Given the description of an element on the screen output the (x, y) to click on. 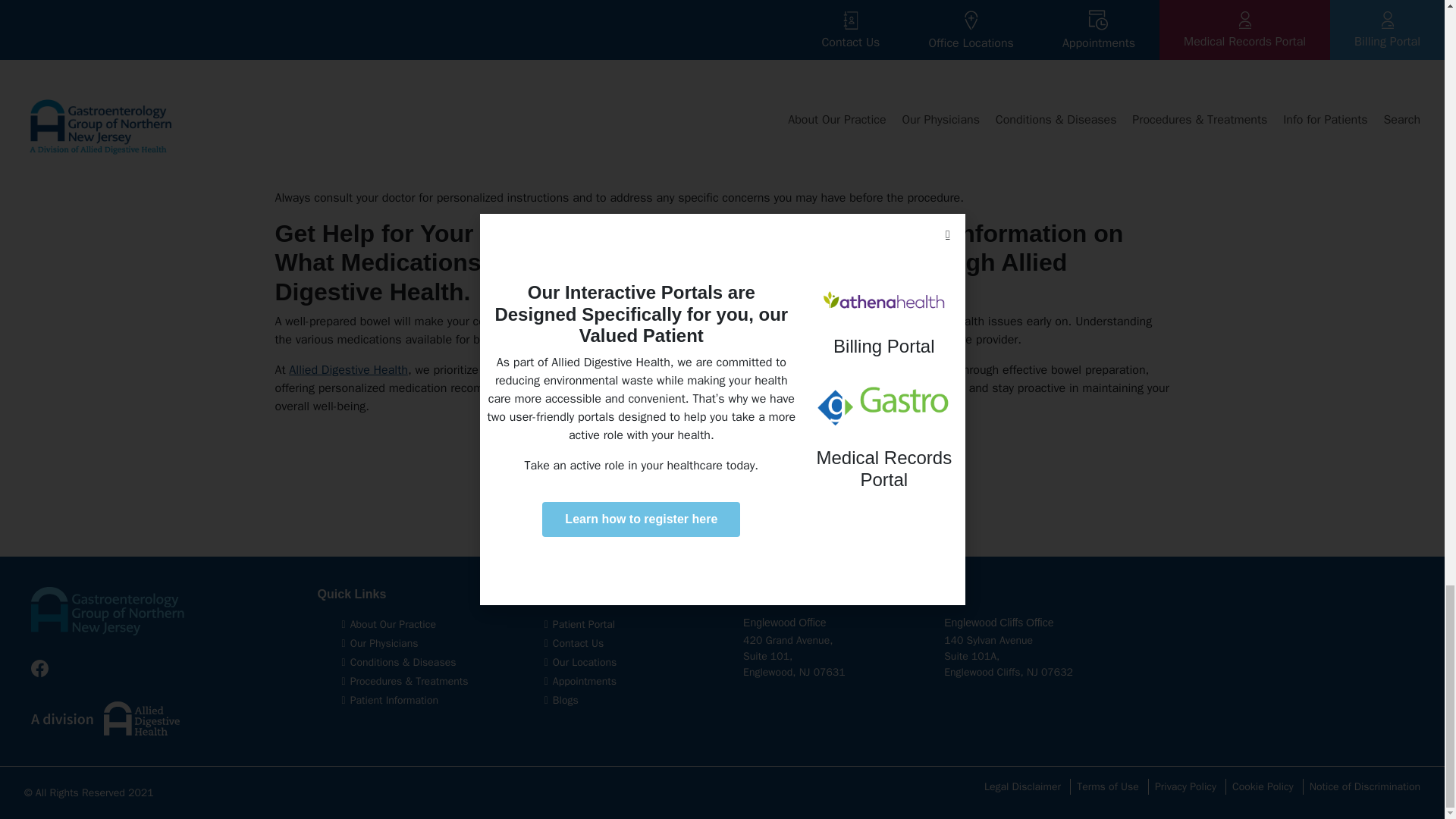
Contact our Care Centers today (722, 387)
Our Physicians (384, 643)
About Our Practice (392, 624)
Allied Digestive Health (347, 369)
